Given the description of an element on the screen output the (x, y) to click on. 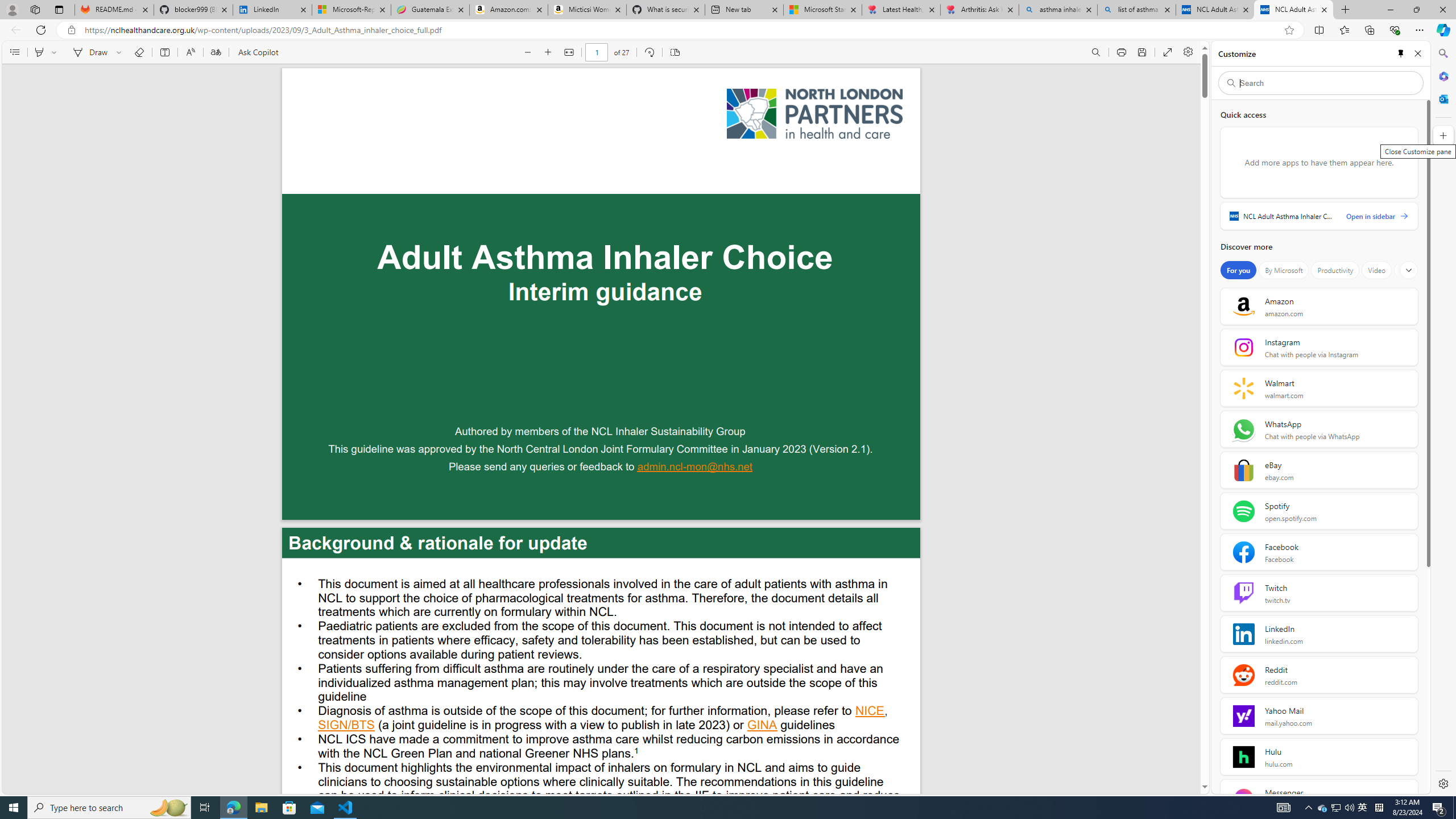
Enter PDF full screen (1167, 52)
Find (Ctrl + F) (1096, 52)
Productivity (1334, 270)
Page number (596, 52)
asthma inhaler - Search (1057, 9)
admin.ncl-mon@nhs.net (694, 467)
Page view (674, 52)
